Given the description of an element on the screen output the (x, y) to click on. 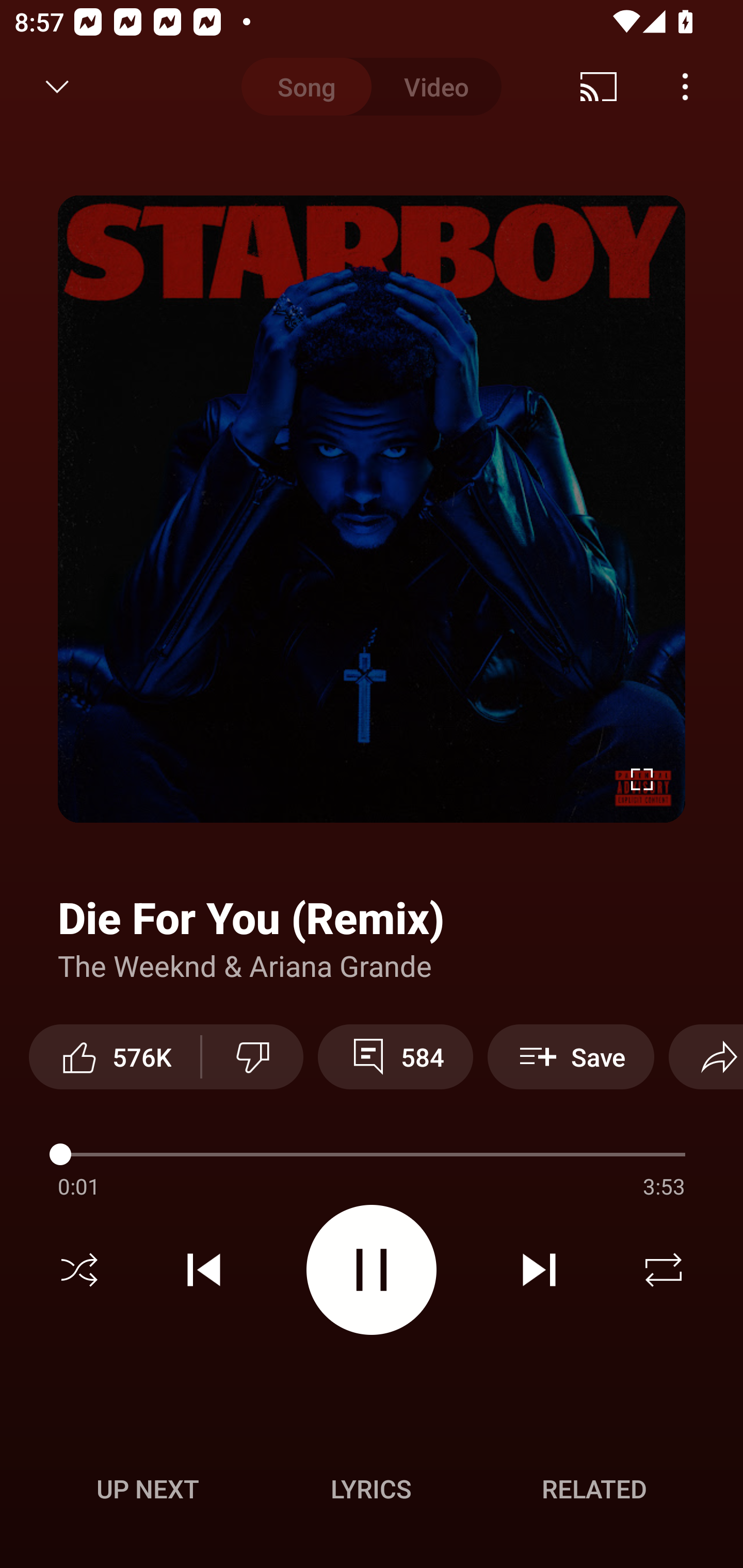
Cast. Disconnected (598, 86)
Menu (684, 86)
Back (50, 86)
Enter fullscreen (641, 779)
Dislike (252, 1056)
584 View 584 comments (395, 1056)
Save Save to playlist (570, 1056)
Share (705, 1056)
Action menu (371, 1123)
Pause video (371, 1269)
Shuffle off (79, 1269)
Previous track (203, 1269)
Next track (538, 1269)
Repeat off (663, 1269)
Up next UP NEXT Lyrics LYRICS Related RELATED (371, 1491)
Lyrics LYRICS (370, 1488)
Related RELATED (594, 1488)
